Given the description of an element on the screen output the (x, y) to click on. 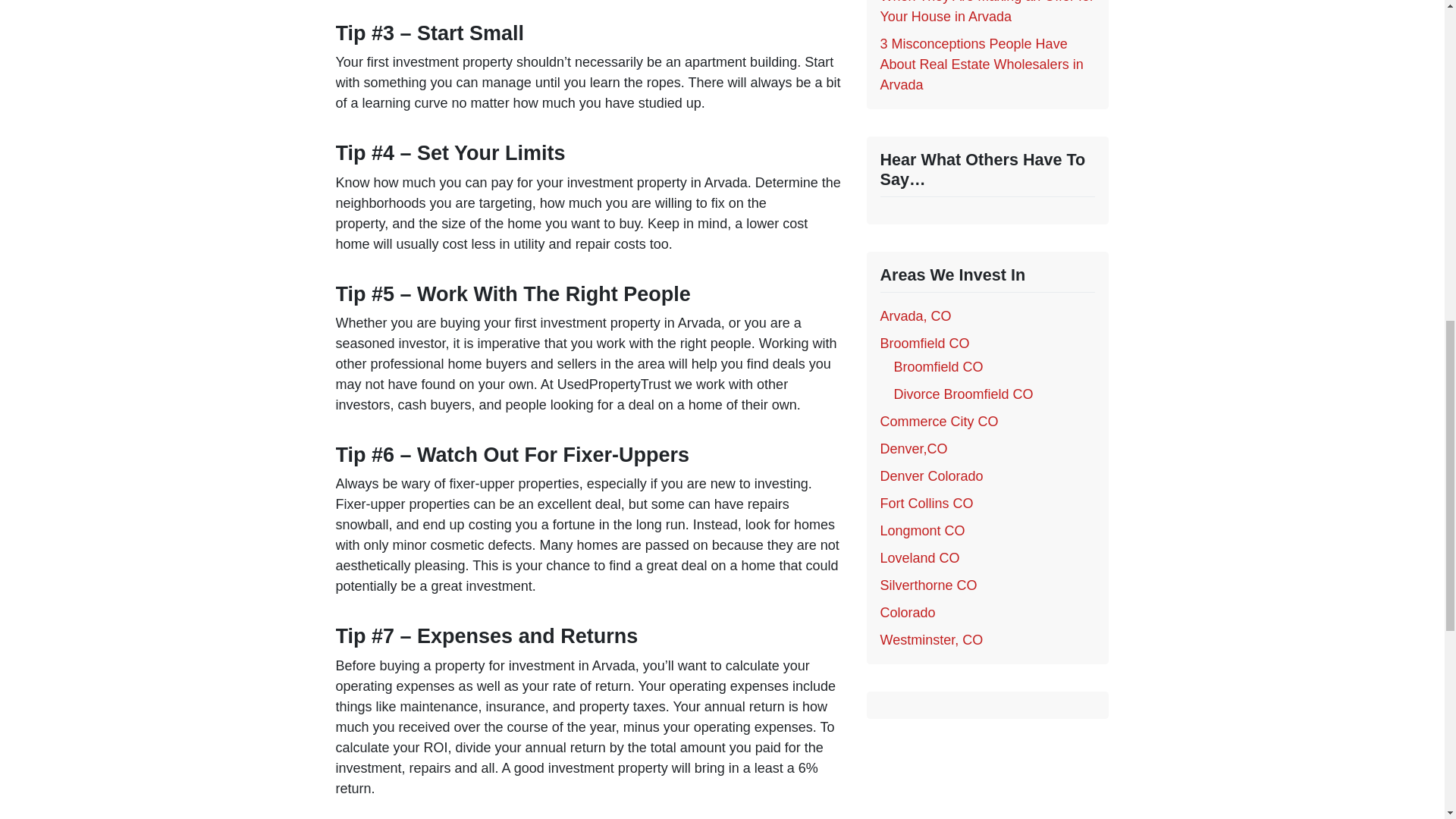
Fort Collins CO (925, 503)
Longmont CO (921, 530)
Silverthorne CO (927, 585)
Denver Colorado (930, 476)
Westminster, CO (930, 639)
Arvada, CO (914, 315)
Loveland CO (919, 557)
Commerce City CO (938, 421)
Denver,CO (913, 448)
Divorce Broomfield CO (962, 394)
Broomfield CO (937, 366)
Broomfield CO (924, 343)
Colorado (906, 612)
